Given the description of an element on the screen output the (x, y) to click on. 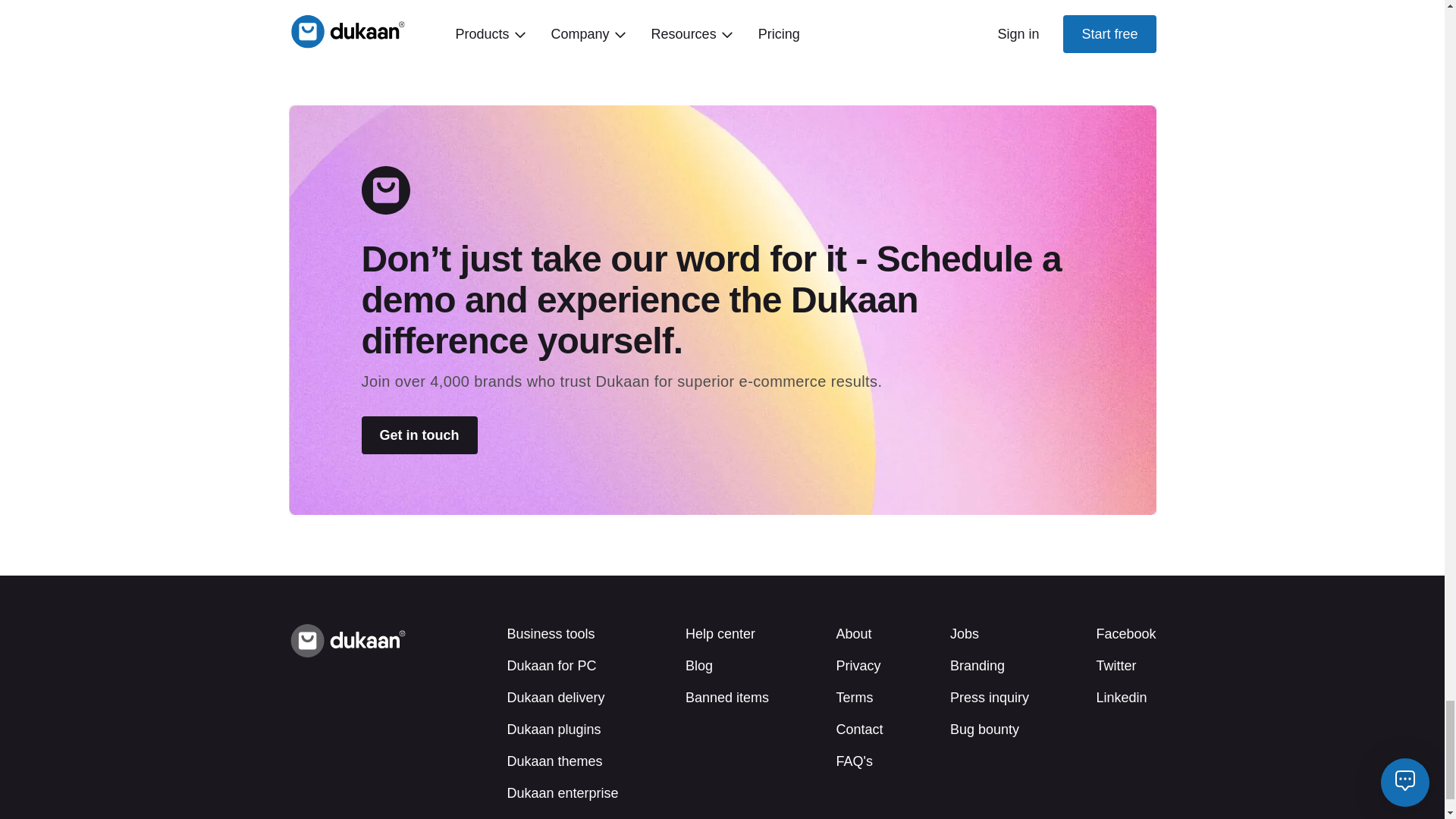
Dukaan themes (554, 761)
Dukaan enterprise (561, 792)
Dukaan plugins (552, 729)
Get in touch (419, 435)
Dukaan delivery (555, 697)
Help center (720, 633)
Dukaan for PC (550, 665)
Business tools (550, 633)
